Given the description of an element on the screen output the (x, y) to click on. 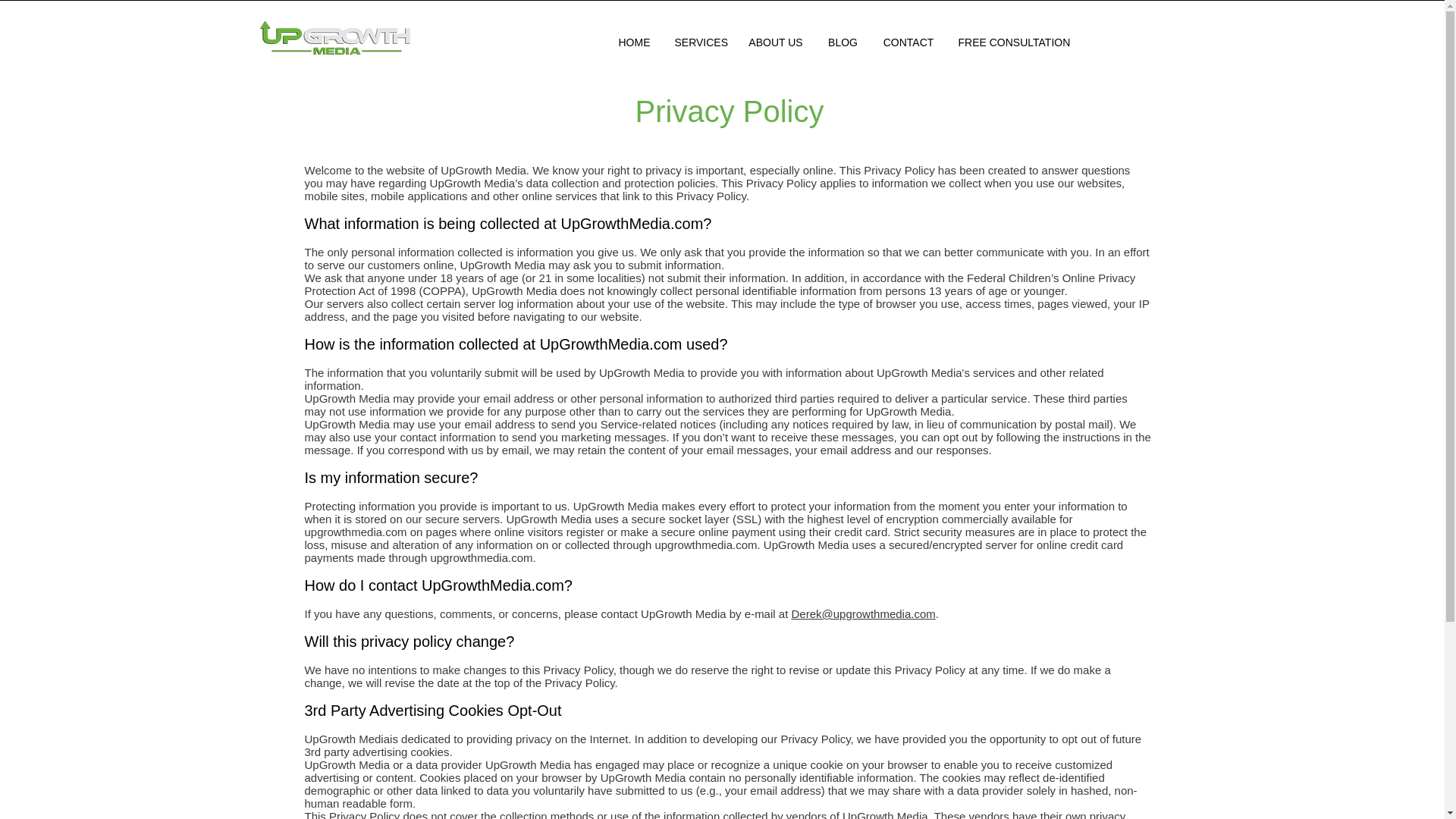
BLOG (842, 42)
ABOUT US (775, 42)
HOME (633, 42)
SERVICES (698, 42)
FREE CONSULTATION (1013, 42)
CONTACT (908, 42)
